Given the description of an element on the screen output the (x, y) to click on. 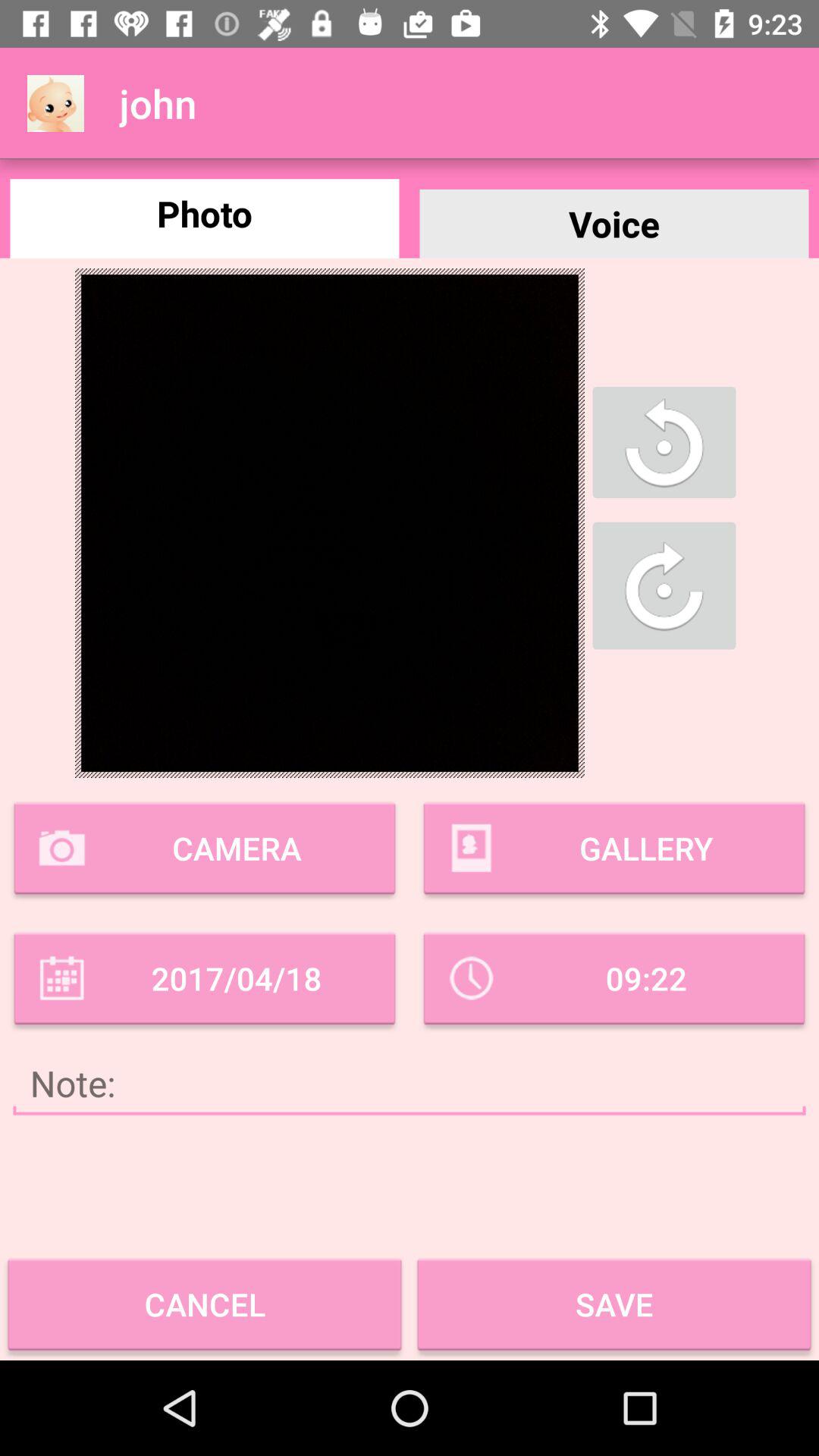
note (409, 1083)
